Given the description of an element on the screen output the (x, y) to click on. 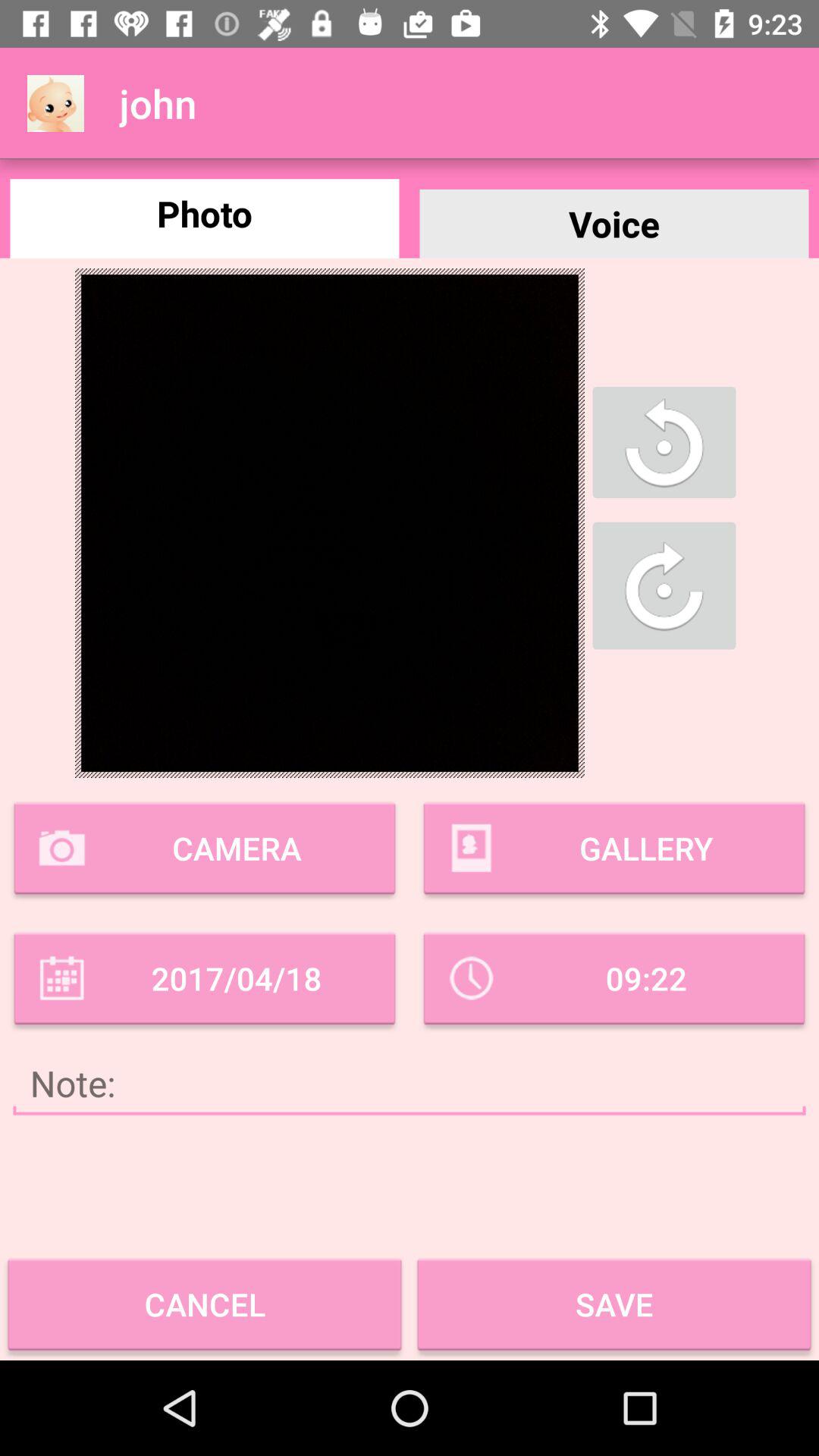
note (409, 1083)
